Given the description of an element on the screen output the (x, y) to click on. 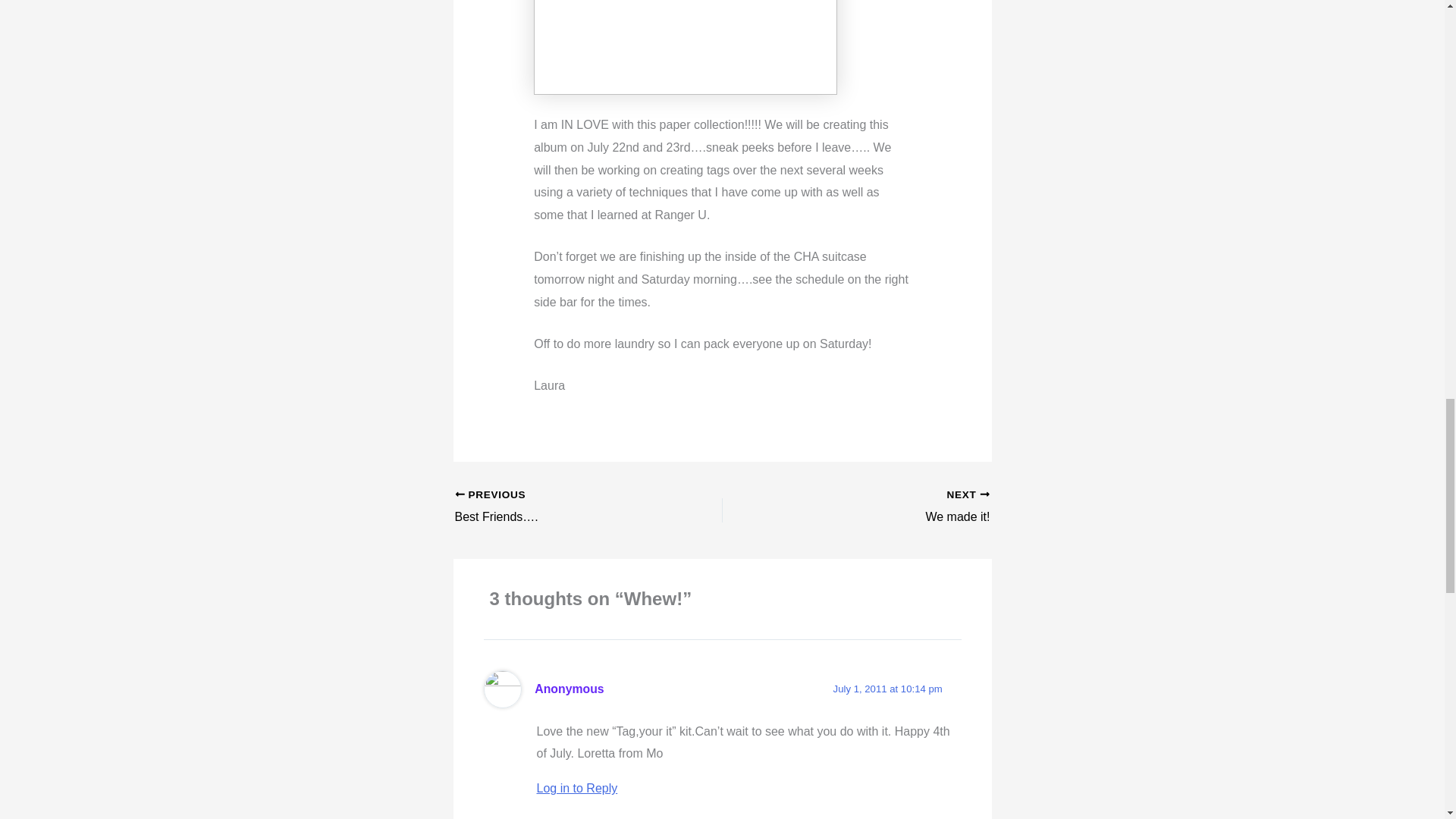
Best Friends.... (561, 507)
We made it! (882, 507)
